Given the description of an element on the screen output the (x, y) to click on. 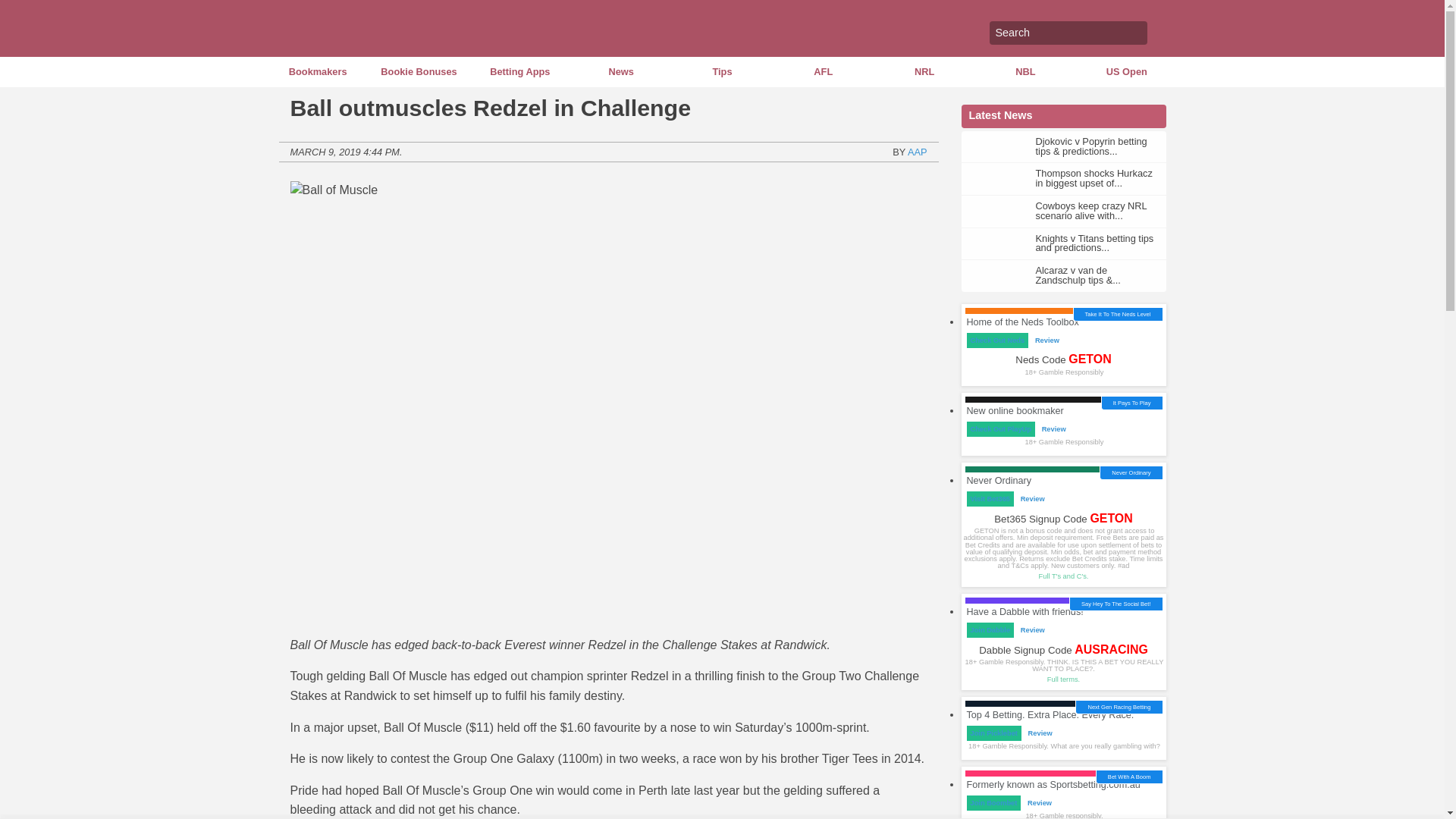
NRL (923, 71)
Betting Apps (519, 71)
US Open (1125, 71)
Betting Apps (519, 71)
Bookmakers (317, 71)
AAP (917, 152)
Bookmakers (317, 71)
NBL (1025, 71)
News (620, 71)
News (620, 71)
